Given the description of an element on the screen output the (x, y) to click on. 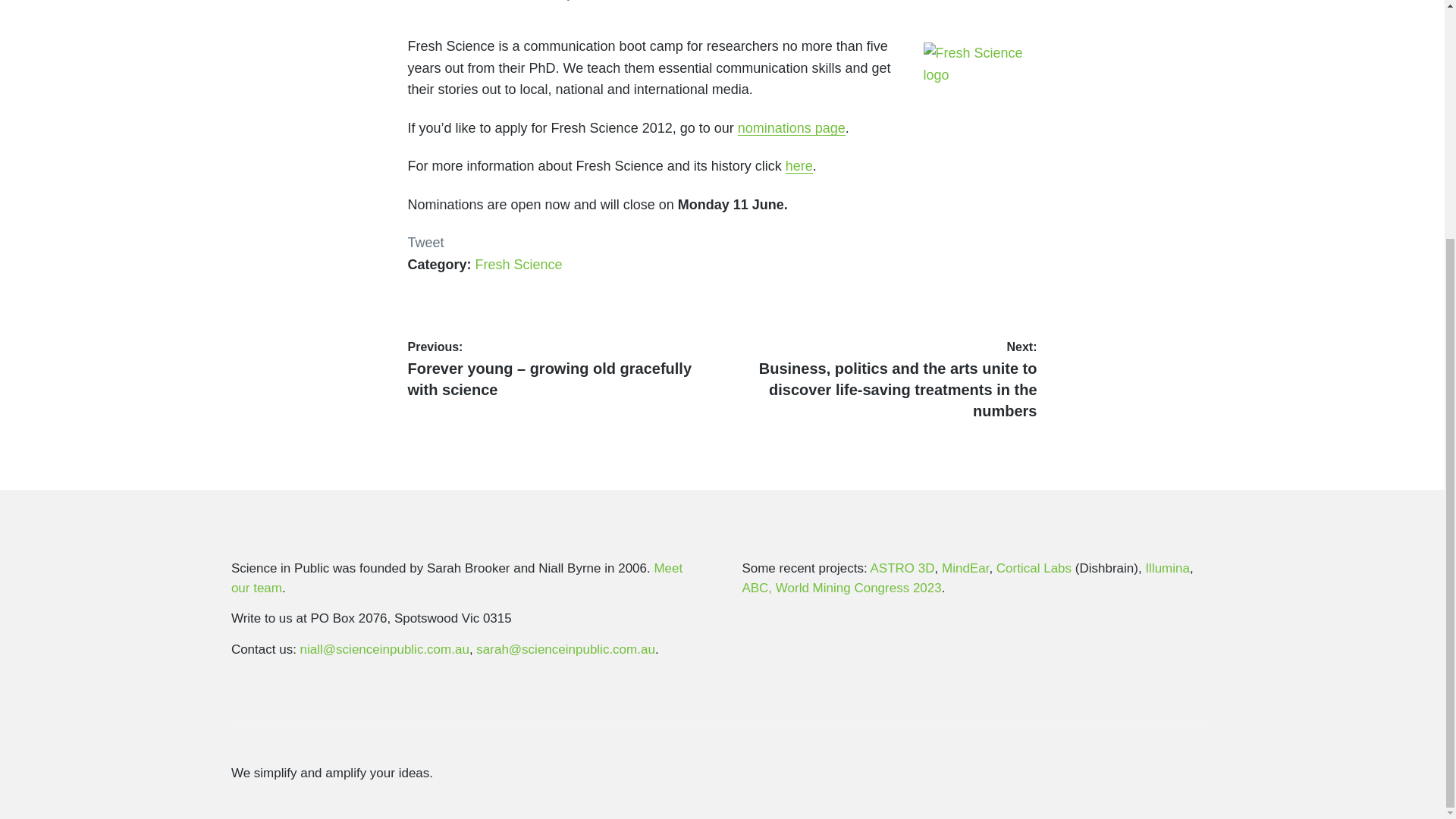
Fresh Science logo (979, 63)
